Given the description of an element on the screen output the (x, y) to click on. 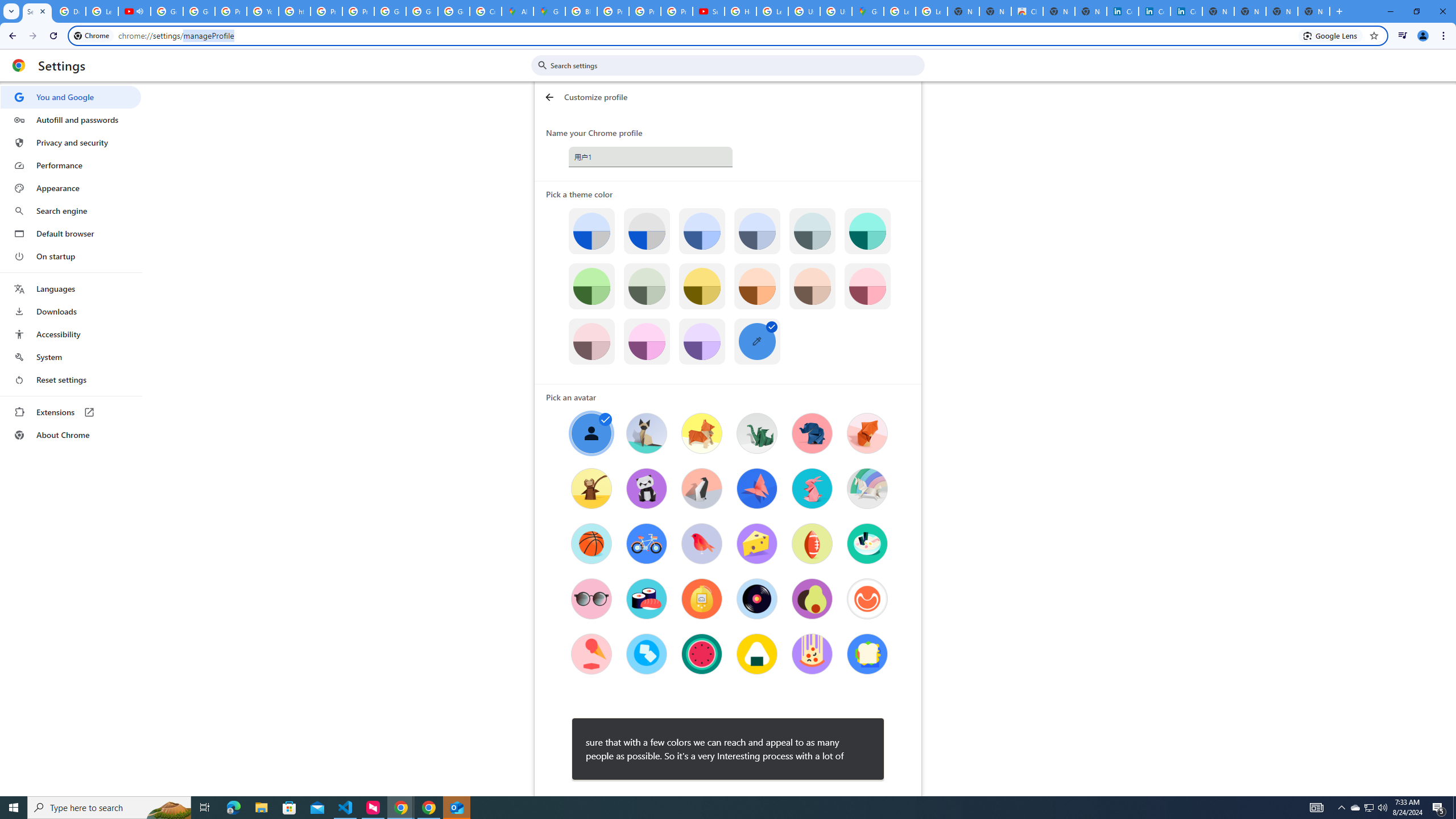
Google Maps (549, 11)
Copyright Policy (1185, 11)
Autofill and passwords (70, 119)
